Given the description of an element on the screen output the (x, y) to click on. 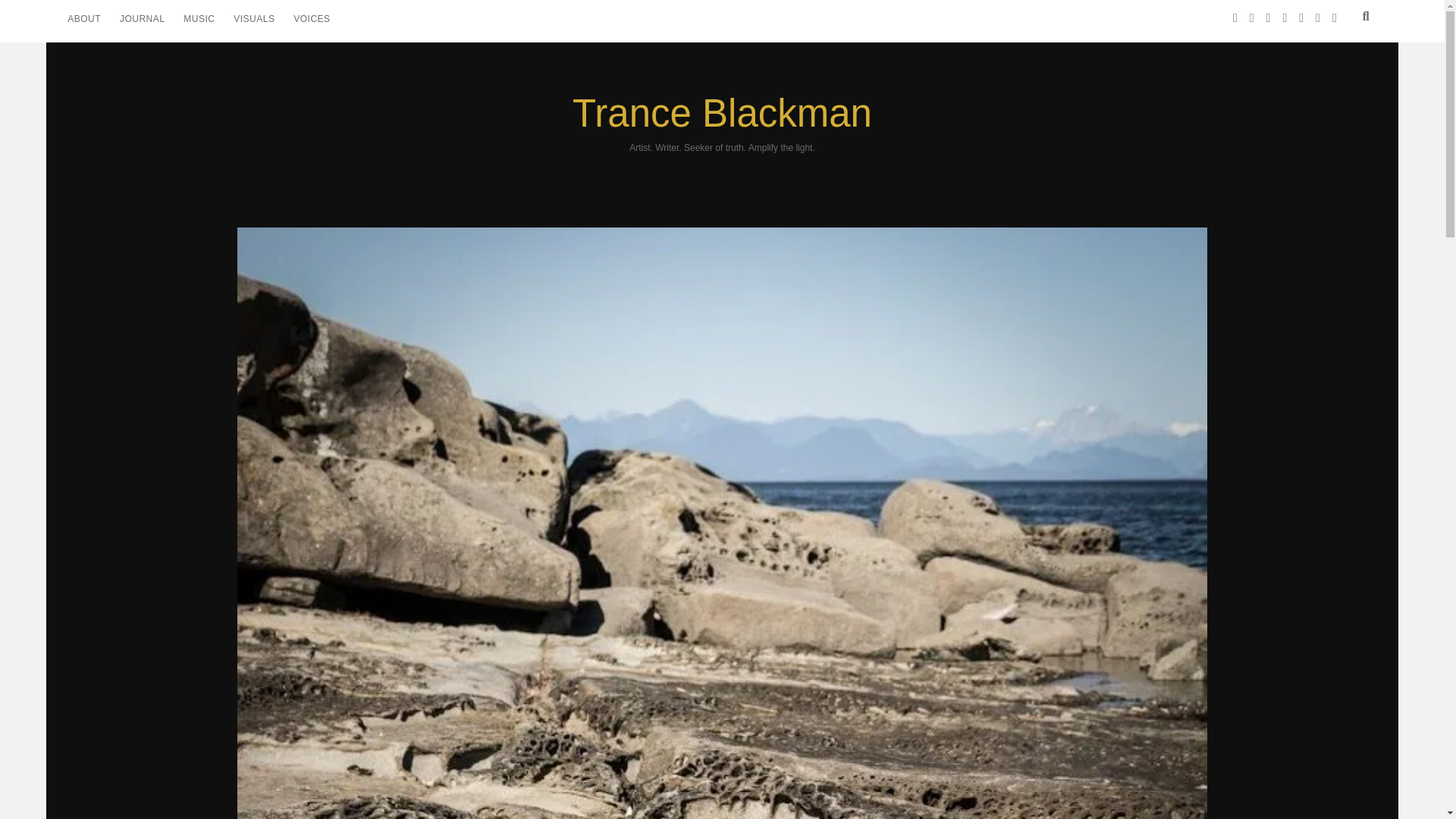
Trance Blackman (722, 113)
VOICES (312, 18)
ABOUT (83, 18)
JOURNAL (141, 18)
VISUALS (253, 18)
MUSIC (198, 18)
